Given the description of an element on the screen output the (x, y) to click on. 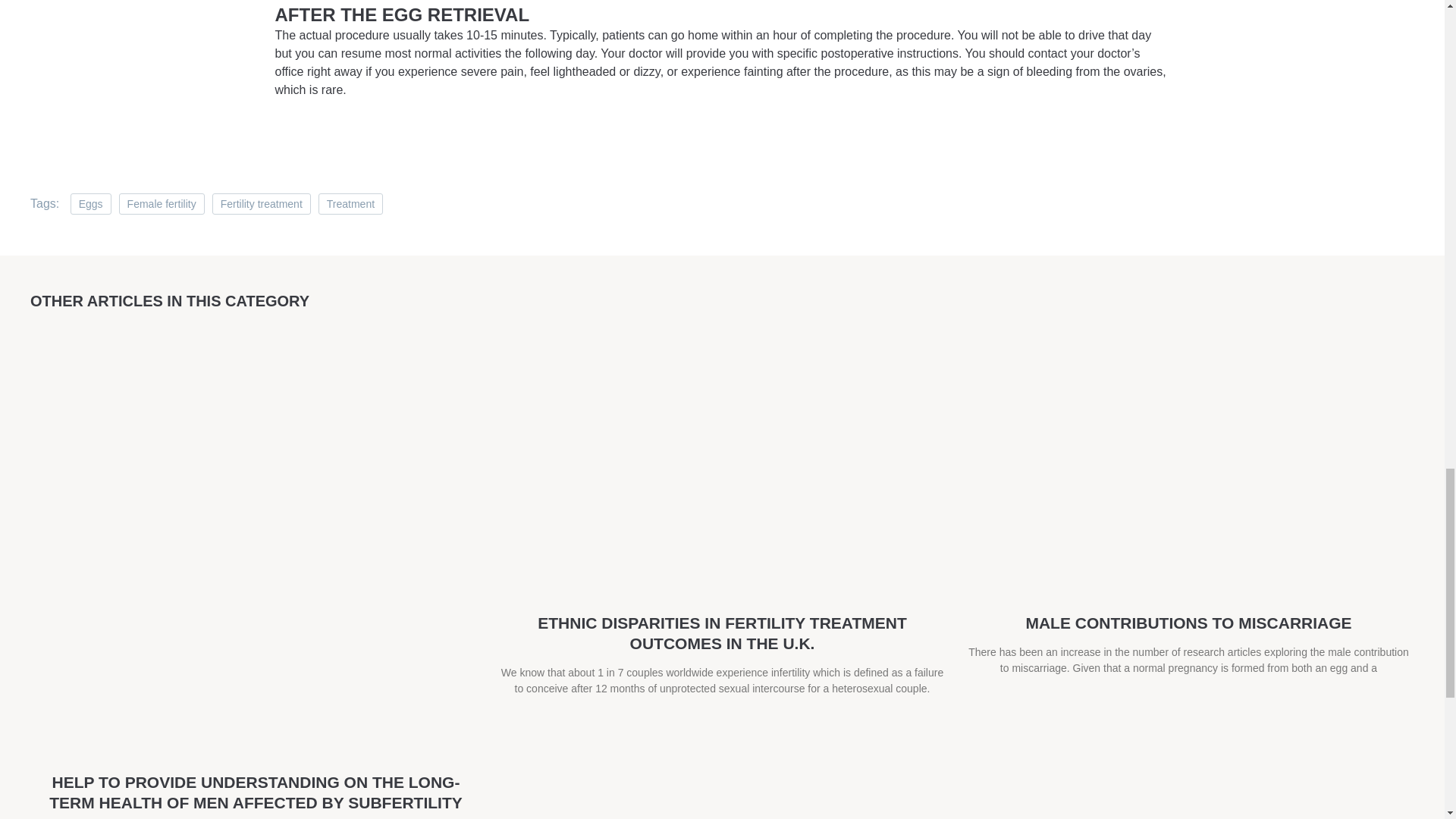
Treatment (350, 203)
MALE CONTRIBUTIONS TO MISCARRIAGE (1188, 622)
Eggs (90, 203)
Female fertility (162, 203)
Fertility treatment (261, 203)
